Given the description of an element on the screen output the (x, y) to click on. 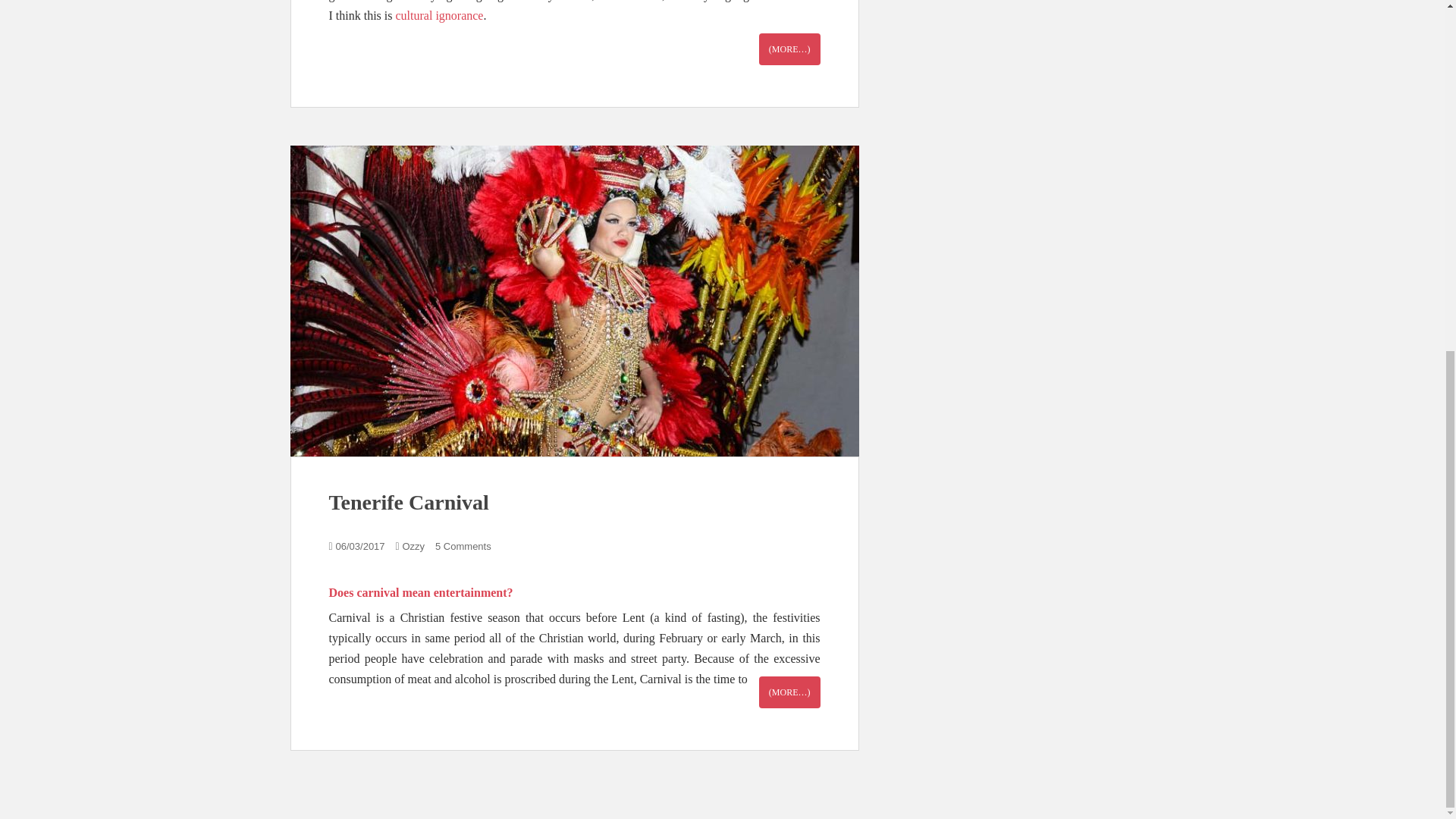
5 Comments (463, 546)
Ozzy (413, 546)
Tenerife Carnival (409, 502)
cultural ignorance (439, 15)
